Given the description of an element on the screen output the (x, y) to click on. 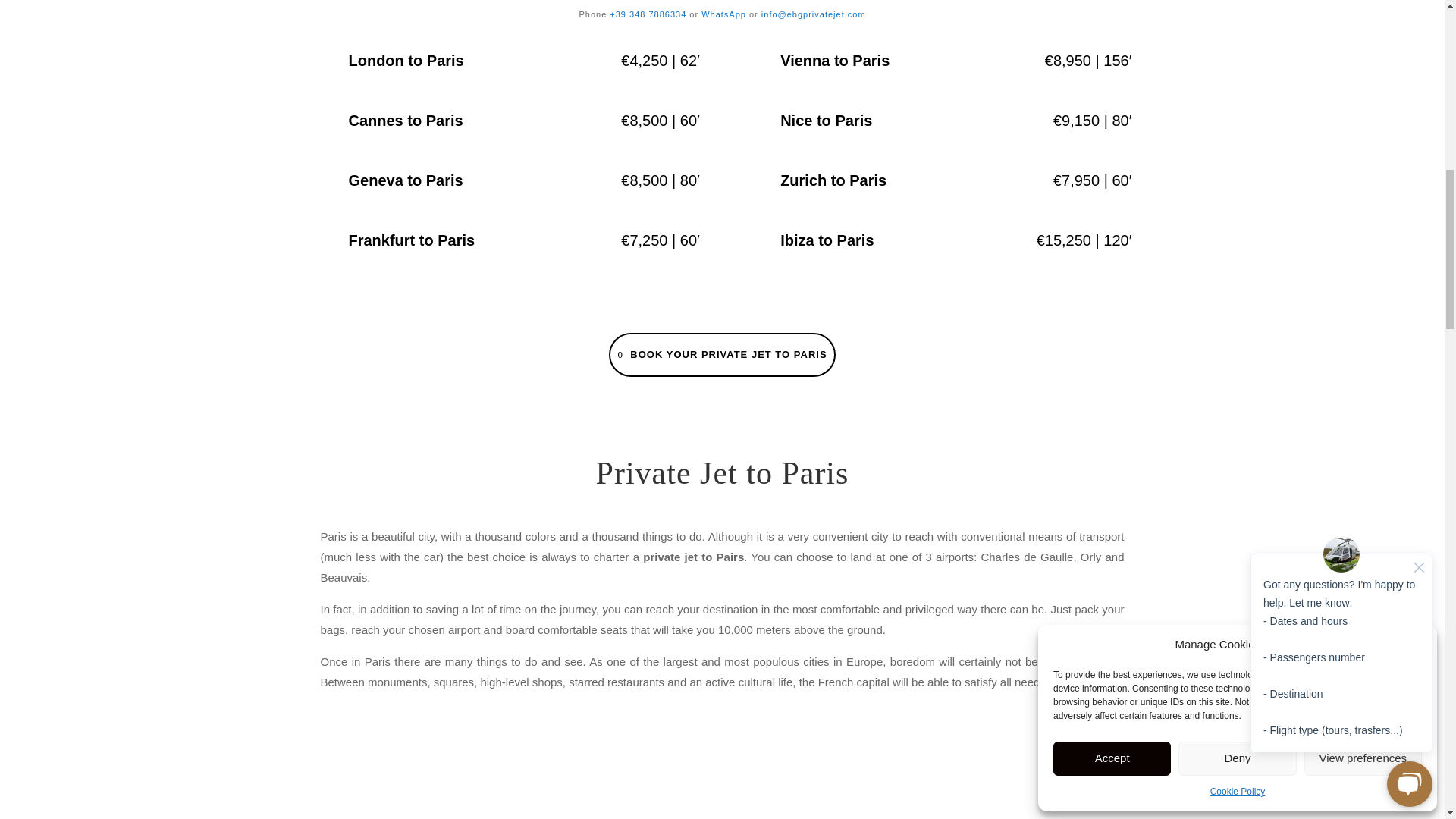
BOOK YOUR PRIVATE JET TO PARIS (721, 354)
private-jet-to-paris (502, 776)
private-jet-to-paris (934, 776)
